Given the description of an element on the screen output the (x, y) to click on. 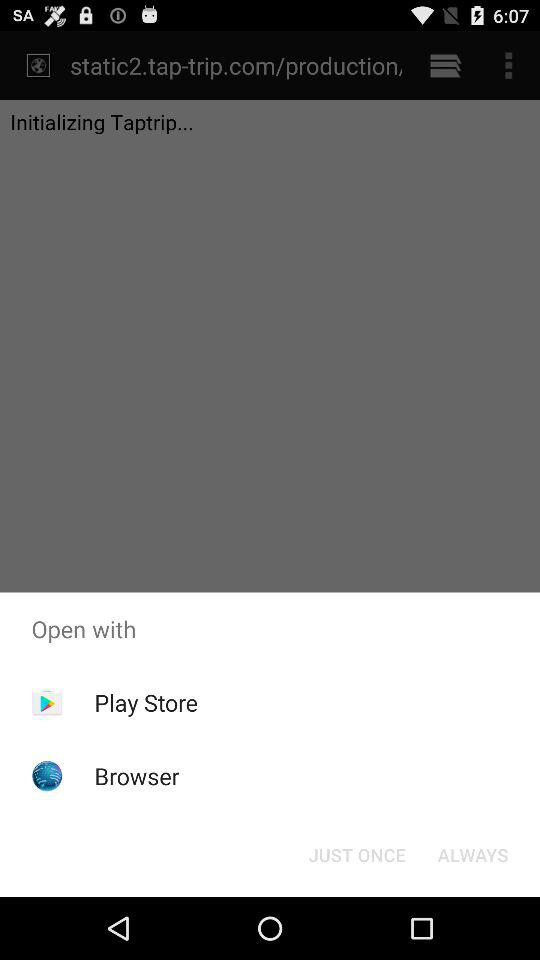
tap the play store (146, 702)
